Given the description of an element on the screen output the (x, y) to click on. 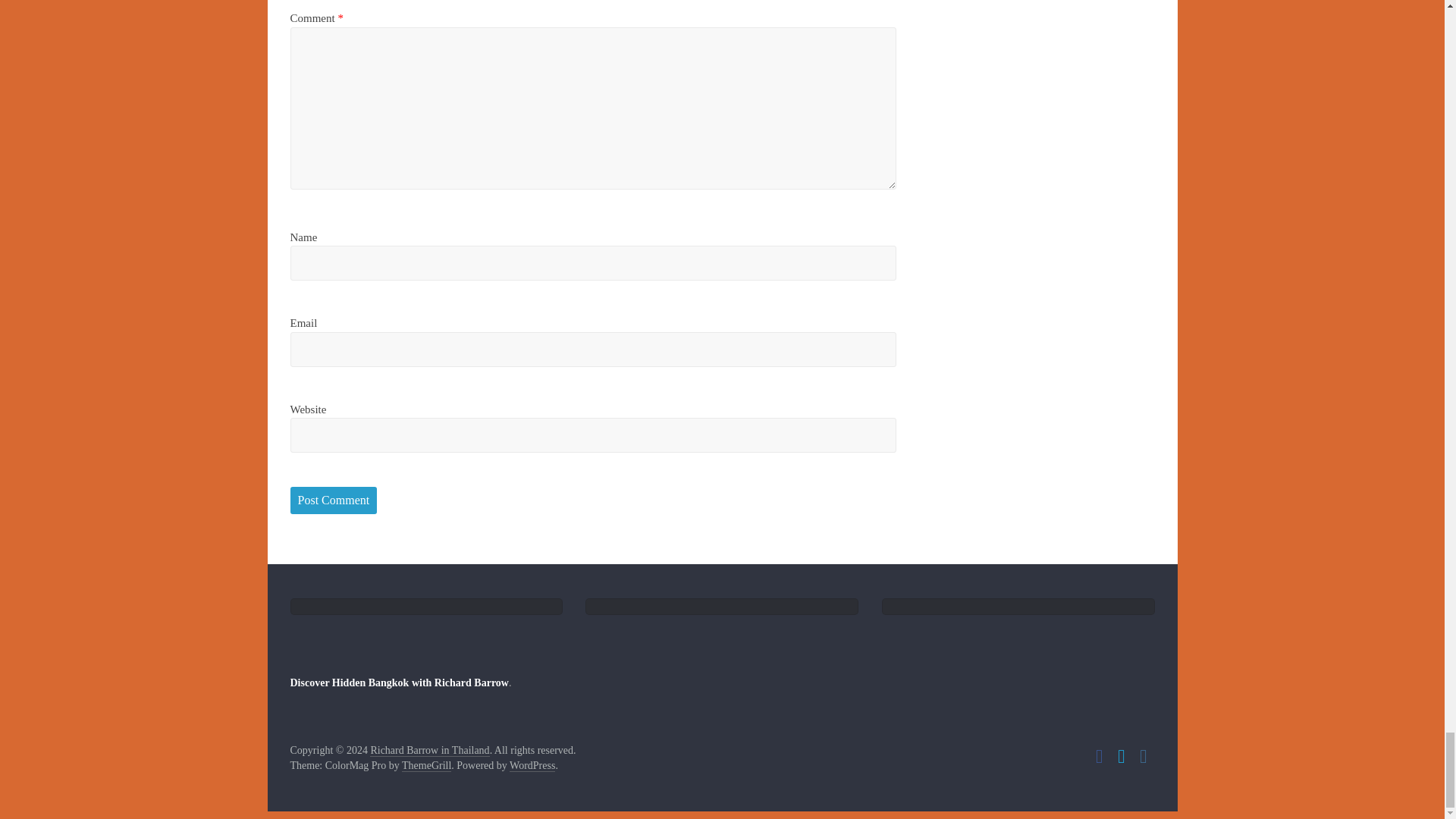
Richard Barrow in Thailand (429, 750)
WordPress (531, 766)
Post Comment (333, 500)
ThemeGrill (426, 766)
